Given the description of an element on the screen output the (x, y) to click on. 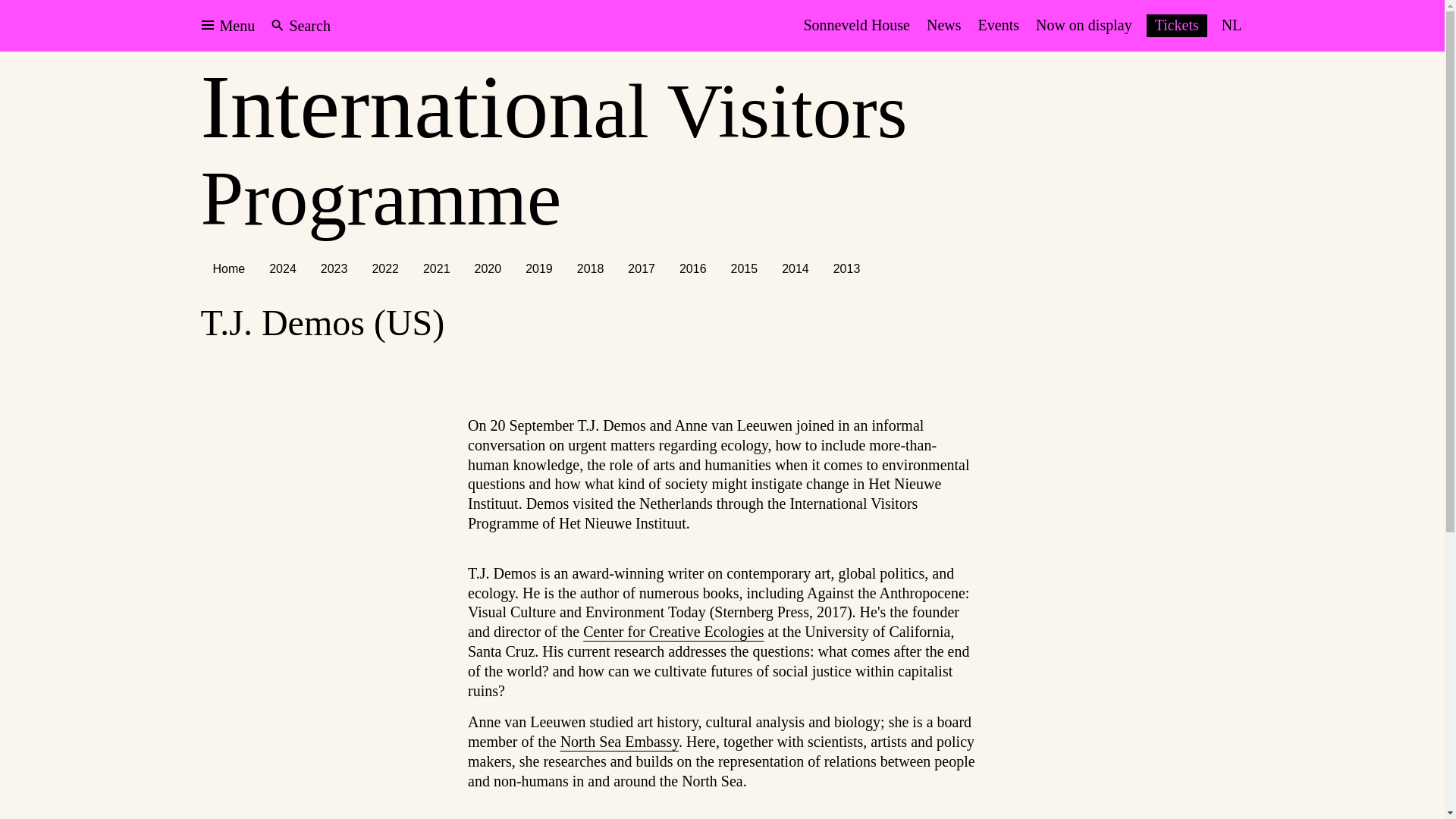
2021 (436, 268)
2024 (282, 268)
Home (228, 268)
News (943, 25)
Tickets (1177, 25)
2019 (538, 268)
Sonneveld House (856, 25)
2022 (384, 268)
NL (1231, 25)
2023 (333, 268)
Now on display (1083, 25)
Menu (227, 25)
2020 (488, 268)
Events (998, 25)
Search (301, 25)
